Given the description of an element on the screen output the (x, y) to click on. 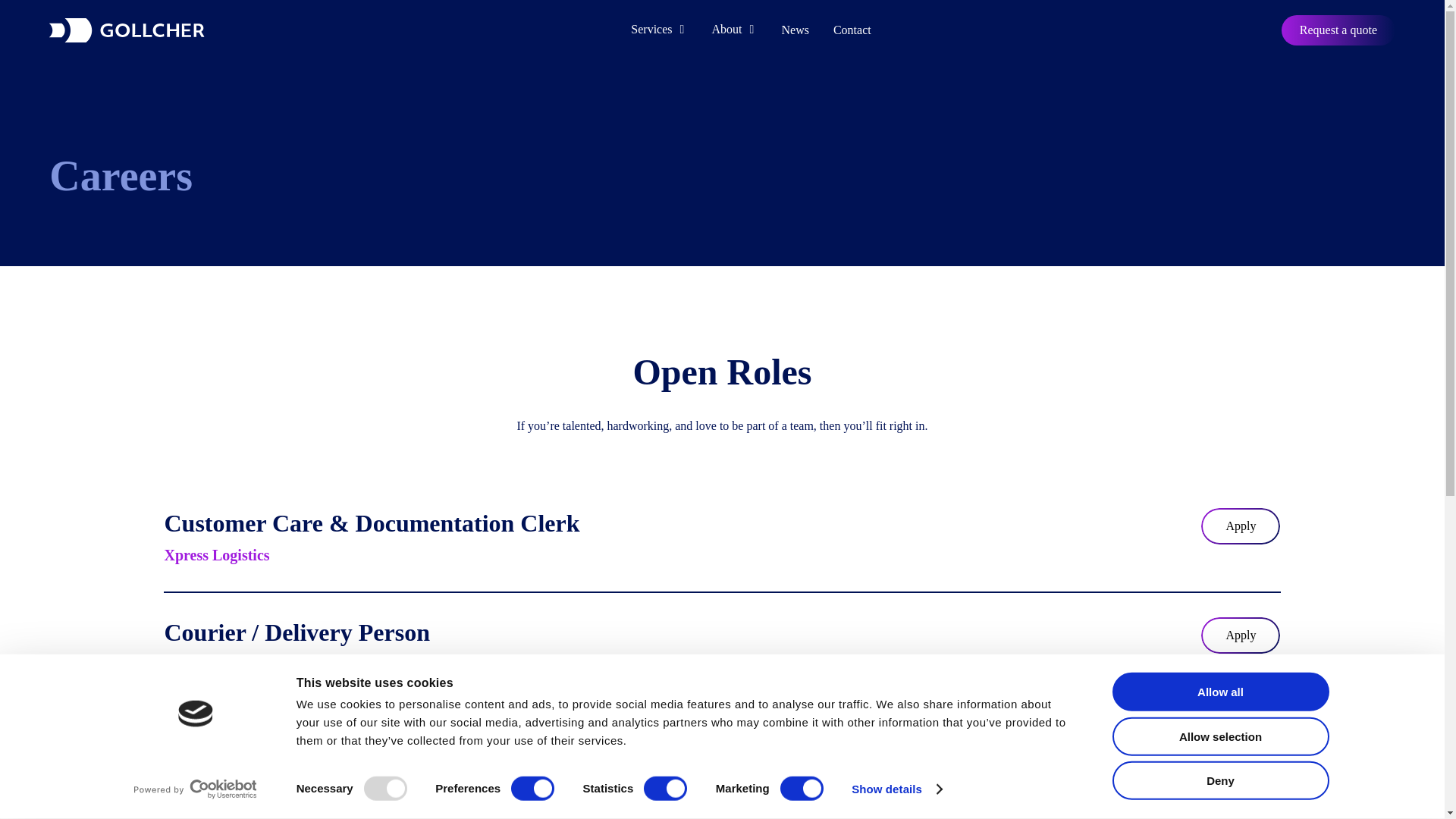
Deny (1219, 780)
Allow all (1219, 691)
Allow selection (1219, 735)
Show details (895, 789)
Services (658, 29)
